Given the description of an element on the screen output the (x, y) to click on. 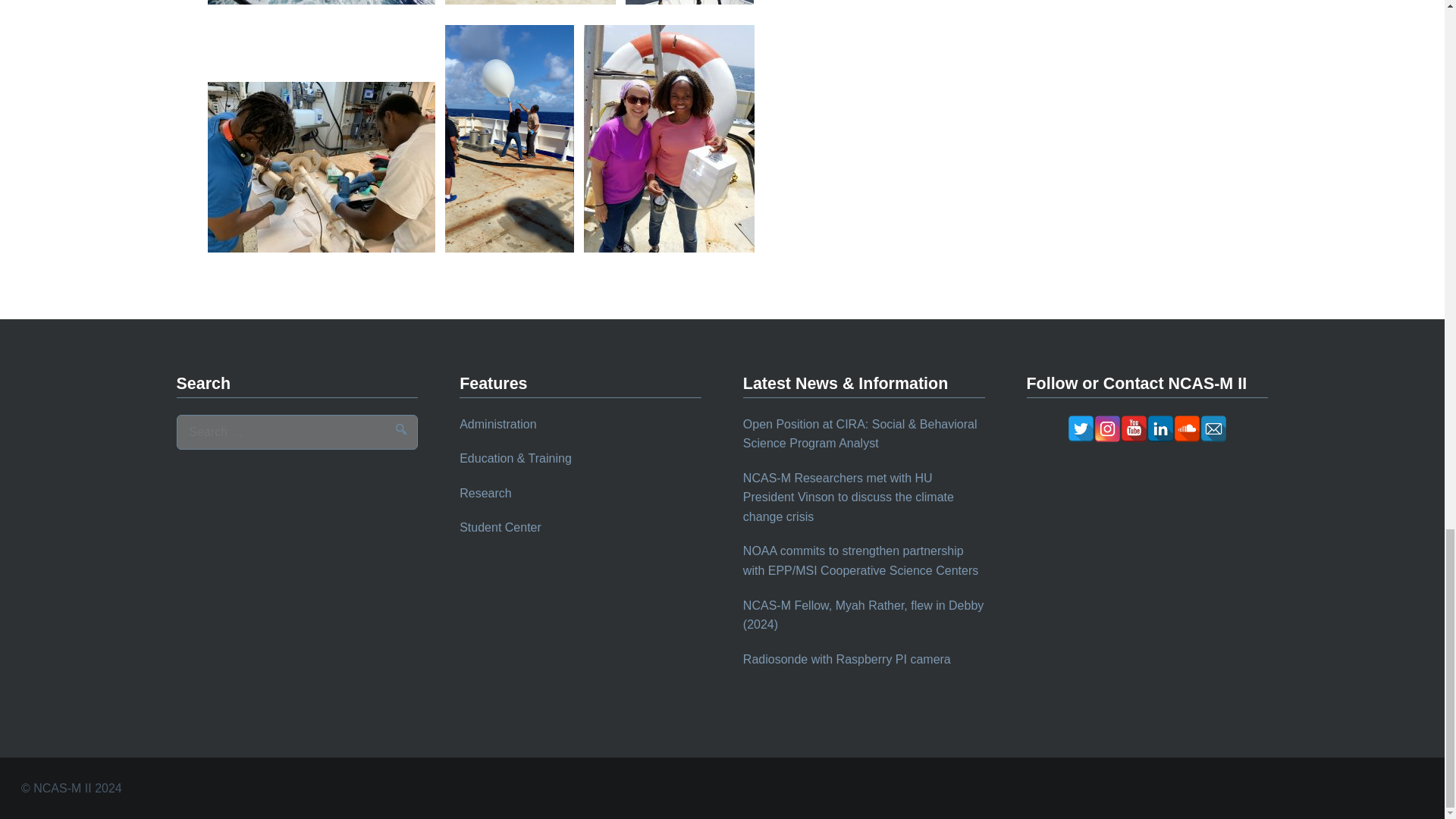
Instagram (1107, 428)
SoundCloud (1186, 428)
Email (1213, 428)
Twitter (1080, 428)
LinkedIn (1160, 428)
YouTube (1134, 428)
